Given the description of an element on the screen output the (x, y) to click on. 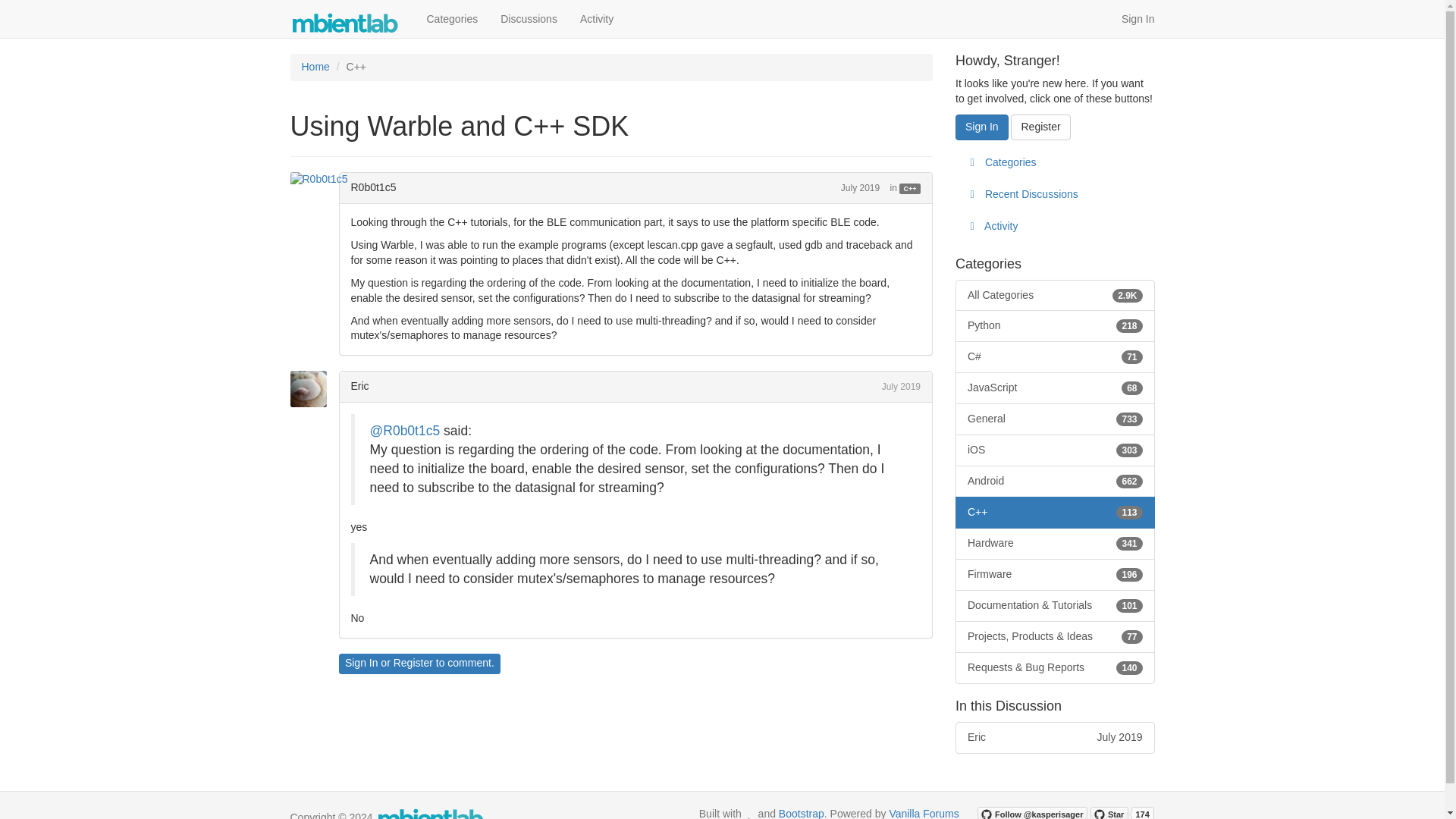
Categories (1054, 163)
218 discussions (1129, 326)
Recent Discussions (1054, 194)
July 2019 (860, 187)
71 discussions (1131, 357)
Sign In (982, 127)
Categories (451, 18)
68 discussions (1131, 388)
662 discussions (1054, 295)
July 10, 2019  8:00AM (1129, 480)
Register (901, 386)
113 discussions (1054, 481)
Eric (412, 662)
